Given the description of an element on the screen output the (x, y) to click on. 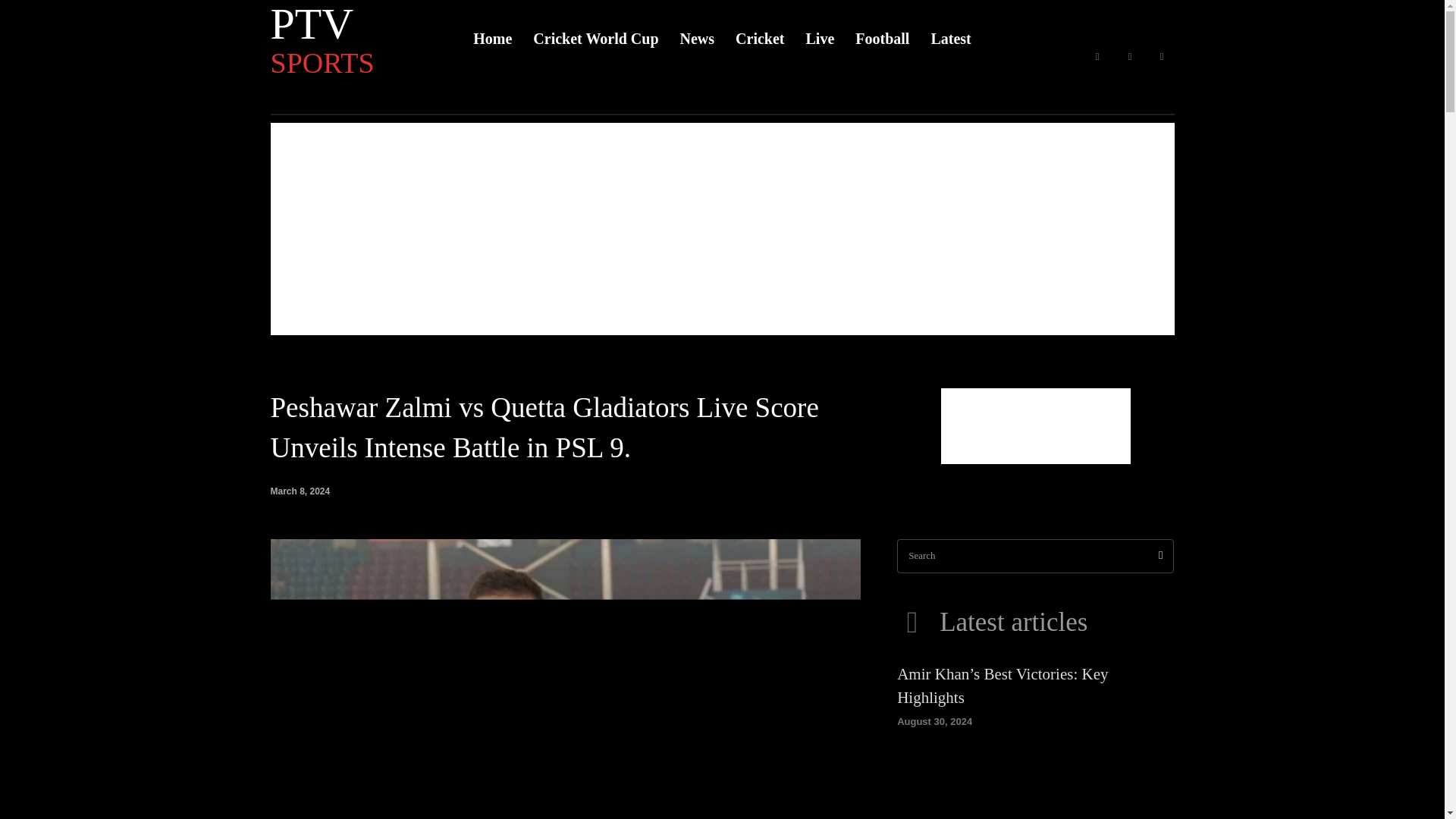
Facebook (345, 38)
Instagram (1096, 57)
Advertisement (1130, 57)
Twitter (1035, 426)
Cricket World Cup (1162, 57)
